Given the description of an element on the screen output the (x, y) to click on. 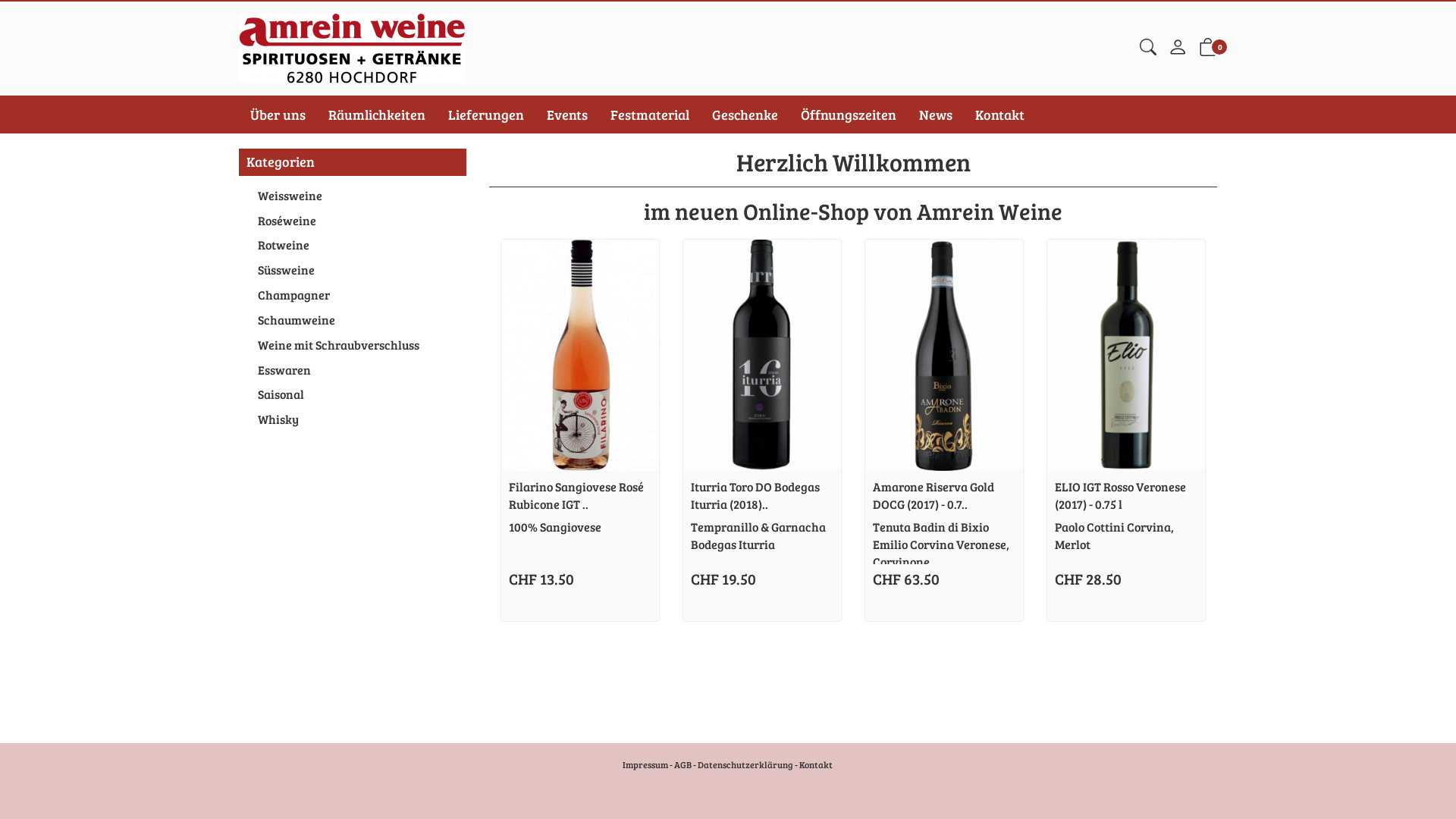
Geschenke Element type: text (744, 114)
Kontakt Element type: text (815, 764)
Suche Element type: hover (1147, 48)
Iturria Toro DO Bodegas Iturria (2018).. Element type: text (754, 494)
Tempranillo & Garnacha Bodegas Iturria Element type: text (757, 535)
Festmaterial Element type: text (649, 114)
Esswaren Element type: text (352, 369)
0 Element type: text (1207, 49)
100% Sangiovese Element type: text (554, 526)
News Element type: text (935, 114)
AGB Element type: text (681, 764)
Kontakt Element type: text (999, 114)
Impressum Element type: text (644, 764)
Amarone Riserva Gold DOCG (2017) - 0.7.. Element type: text (933, 494)
Artikel-Detailansicht anzeigen Element type: hover (579, 354)
Artikel-Detailansicht anzeigen Element type: hover (1125, 354)
Artikel-Detailansicht anzeigen Element type: hover (761, 354)
Mein Konto Element type: hover (1177, 50)
Rotweine Element type: text (352, 244)
Lieferungen Element type: text (485, 114)
Tenuta Badin di Bixio Emilio Corvina Veronese, Corvinone,.. Element type: text (940, 543)
Schaumweine Element type: text (352, 319)
Saisonal Element type: text (352, 394)
Champagner Element type: text (352, 294)
Weissweine Element type: text (352, 195)
Weine mit Schraubverschluss Element type: text (352, 344)
Paolo Cottini Corvina, Merlot Element type: text (1113, 535)
Whisky Element type: text (352, 419)
Events Element type: text (567, 114)
Artikel-Detailansicht anzeigen Element type: hover (943, 354)
ELIO IGT Rosso Veronese (2017) - 0.75 l Element type: text (1120, 494)
